Given the description of an element on the screen output the (x, y) to click on. 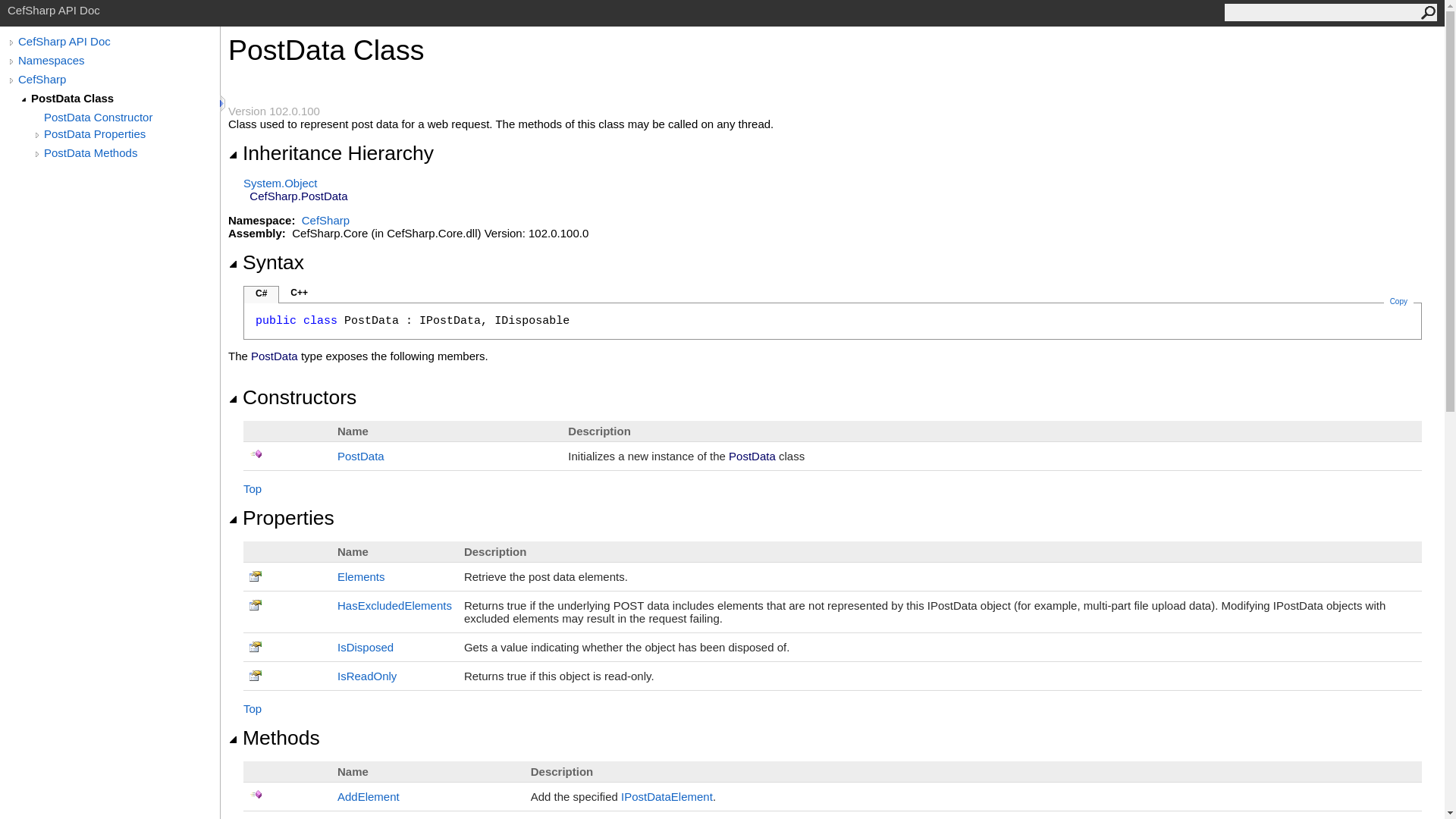
Public method (256, 794)
IsReadOnly (366, 675)
Copy (1398, 301)
PostData Class (124, 97)
CefSharp (118, 78)
PostData Methods (131, 152)
Public property (256, 675)
Namespaces (118, 60)
HasExcludedElements (394, 604)
PostData Properties (131, 133)
